Given the description of an element on the screen output the (x, y) to click on. 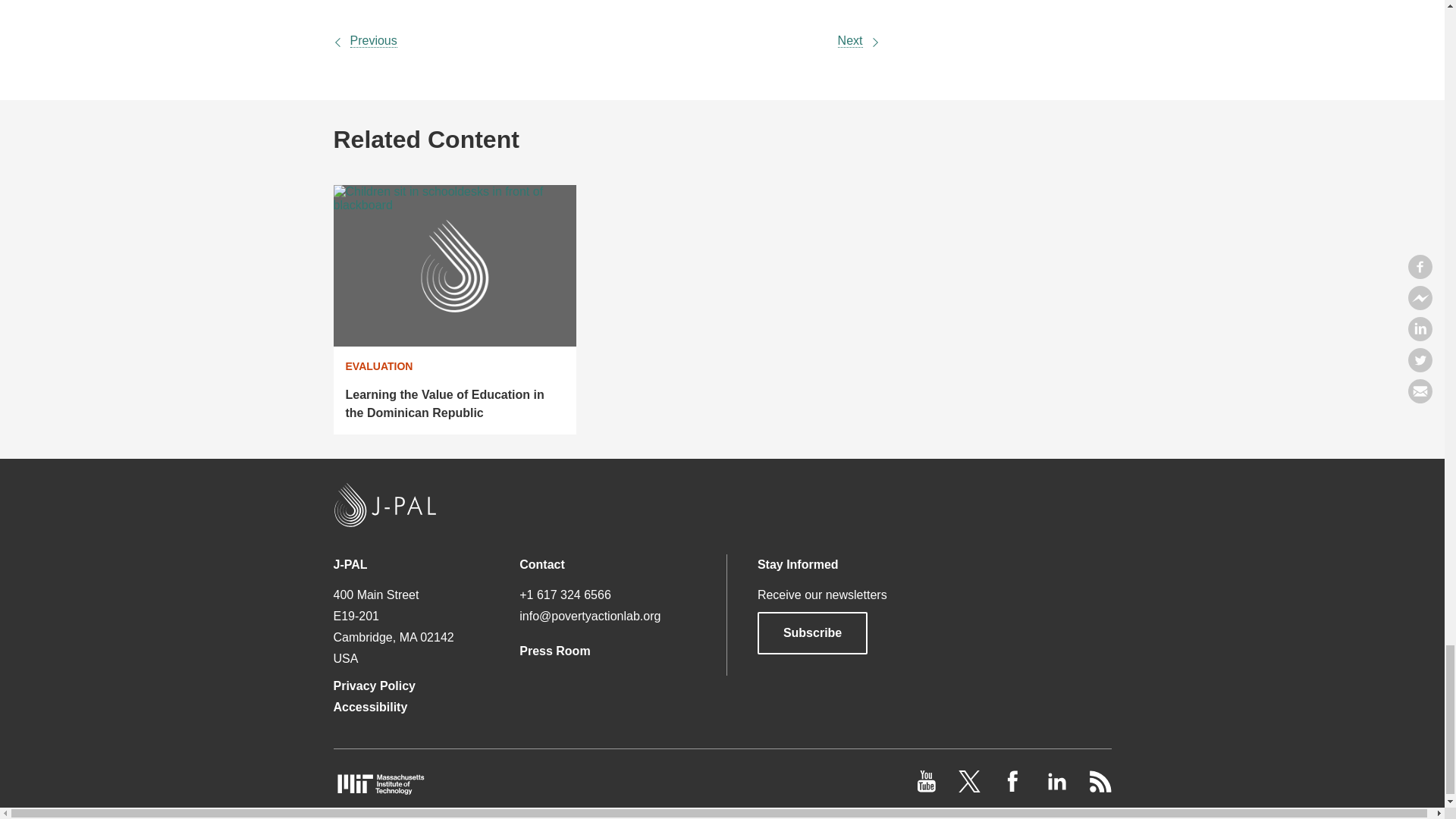
rss feed (1099, 788)
facebook (1015, 788)
LinkedIn (1057, 788)
twitter (971, 788)
youtube (927, 788)
